Given the description of an element on the screen output the (x, y) to click on. 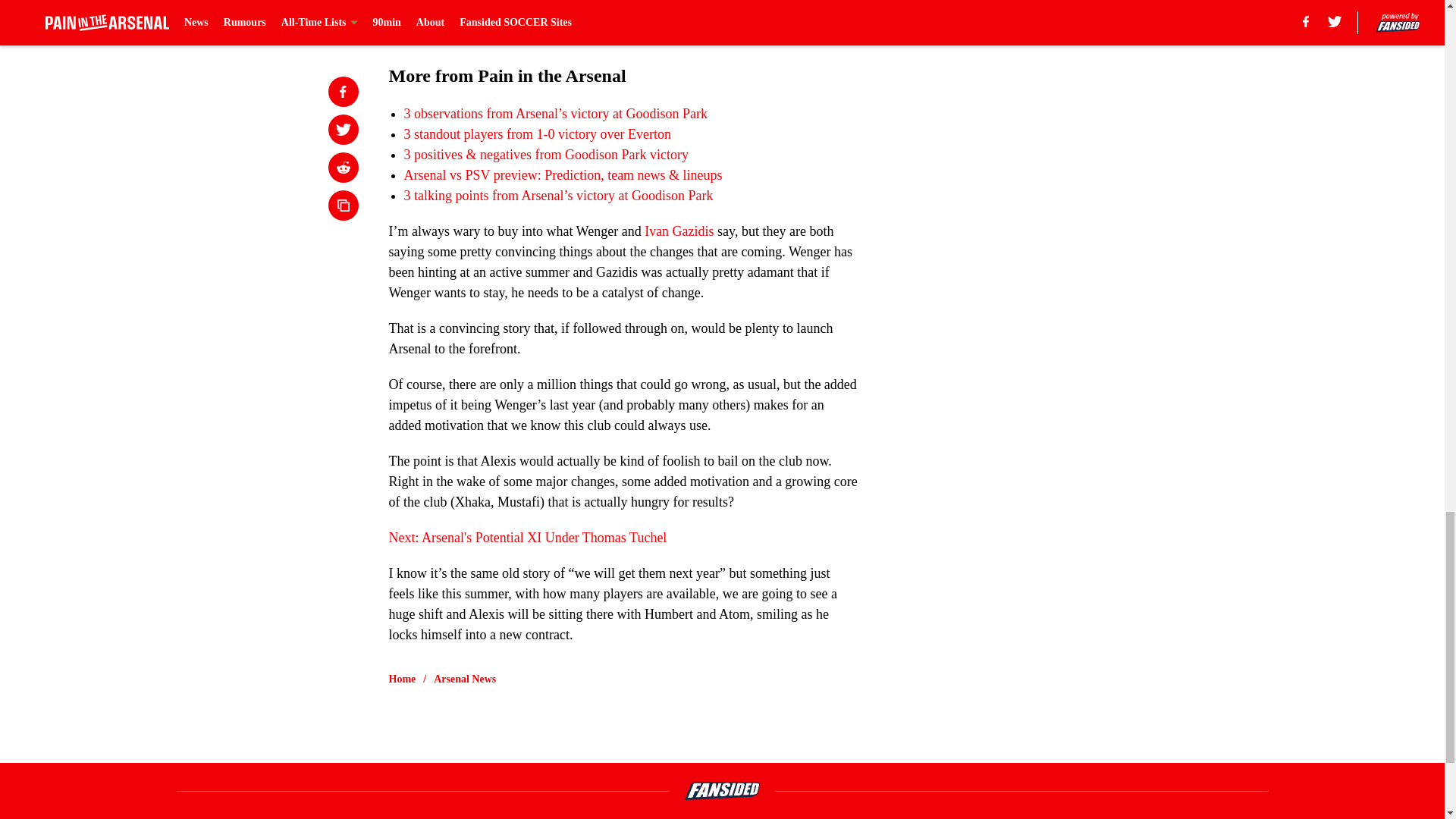
Contact (705, 816)
About (370, 816)
3 standout players from 1-0 victory over Everton (536, 133)
Home (401, 679)
FanSided Daily (1038, 816)
Openings (570, 816)
Next: Arsenal's Potential XI Under Thomas Tuchel (527, 537)
Ivan Gazidis (678, 231)
Arsenal News (464, 679)
